Given the description of an element on the screen output the (x, y) to click on. 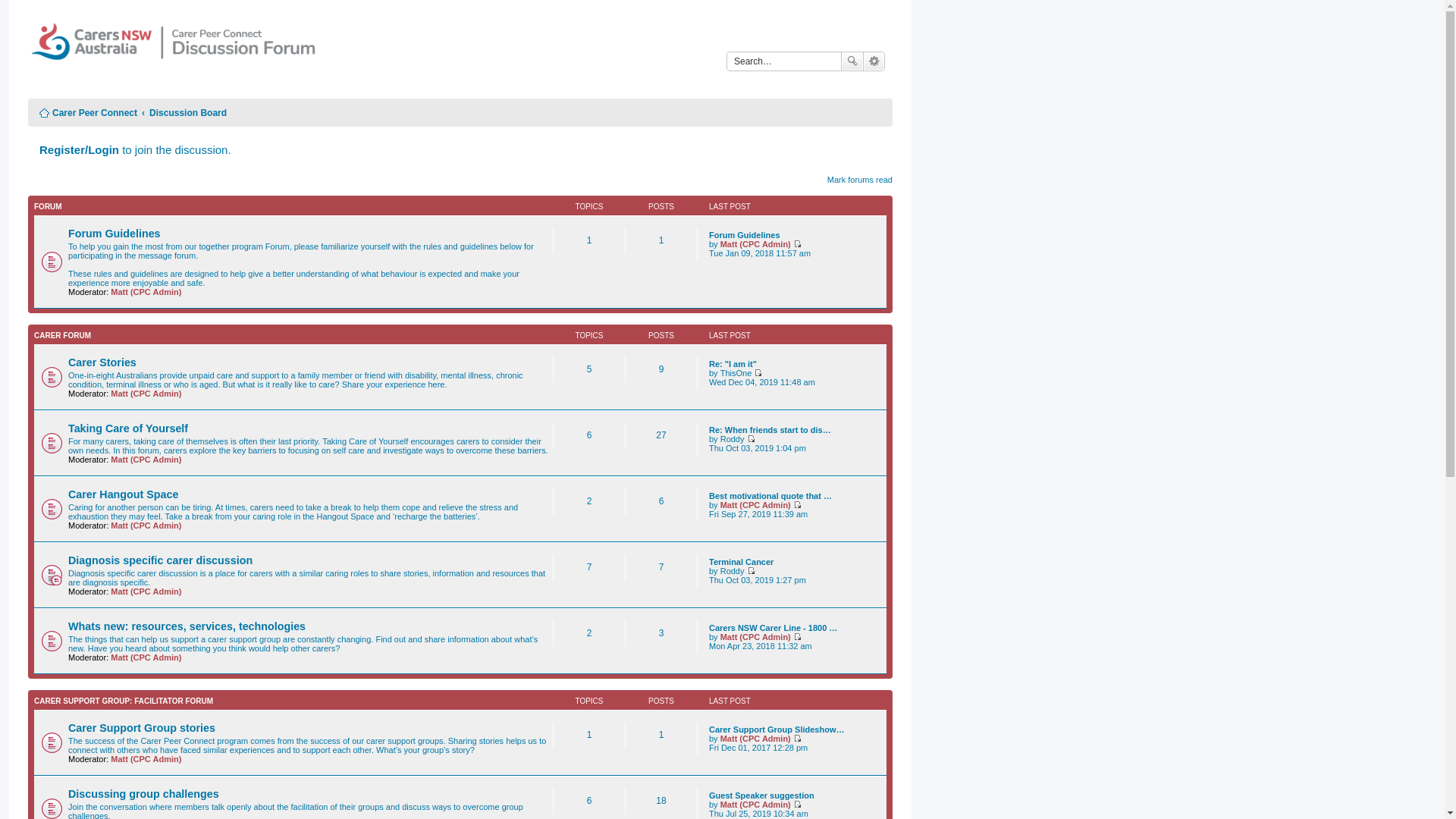
Advanced search Element type: text (873, 61)
Roddy Element type: text (732, 438)
View the latest post Element type: text (797, 804)
Matt (CPC Admin) Element type: text (755, 804)
Diagnosis specific carer discussion Element type: text (160, 560)
Matt (CPC Admin) Element type: text (755, 636)
Carer Stories Element type: text (102, 362)
Matt (CPC Admin) Element type: text (145, 591)
View the latest post Element type: text (797, 243)
Whats new: resources, services, technologies Element type: text (186, 626)
Matt (CPC Admin) Element type: text (145, 657)
Mark forums read Element type: text (859, 179)
Search for keywords Element type: hover (783, 61)
Forum Guidelines Element type: text (744, 234)
Re: "I am it" Element type: text (732, 363)
View the latest post Element type: text (750, 438)
View the latest post Element type: text (797, 504)
CARER FORUM Element type: text (62, 335)
Matt (CPC Admin) Element type: text (145, 393)
Carer Peer Connect Element type: hover (178, 50)
Carer Peer Connect Element type: text (88, 112)
Guest Speaker suggestion Element type: text (761, 795)
Roddy Element type: text (732, 570)
View the latest post Element type: text (797, 738)
Search Element type: text (851, 61)
Terminal Cancer Element type: text (741, 561)
Matt (CPC Admin) Element type: text (145, 291)
Matt (CPC Admin) Element type: text (145, 525)
View the latest post Element type: text (797, 636)
Discussing group challenges Element type: text (143, 793)
Forum Guidelines Element type: text (114, 233)
Matt (CPC Admin) Element type: text (755, 738)
Matt (CPC Admin) Element type: text (755, 243)
Matt (CPC Admin) Element type: text (755, 504)
CARER SUPPORT GROUP: FACILITATOR FORUM Element type: text (123, 700)
Matt (CPC Admin) Element type: text (145, 758)
Matt (CPC Admin) Element type: text (145, 459)
Taking Care of Yourself Element type: text (128, 428)
Register/Login Element type: text (79, 149)
Discussion Board Element type: text (187, 112)
Carer Support Group stories Element type: text (141, 727)
ThisOne Element type: text (736, 372)
View the latest post Element type: text (757, 372)
Carer Hangout Space Element type: text (123, 494)
View the latest post Element type: text (750, 570)
